Given the description of an element on the screen output the (x, y) to click on. 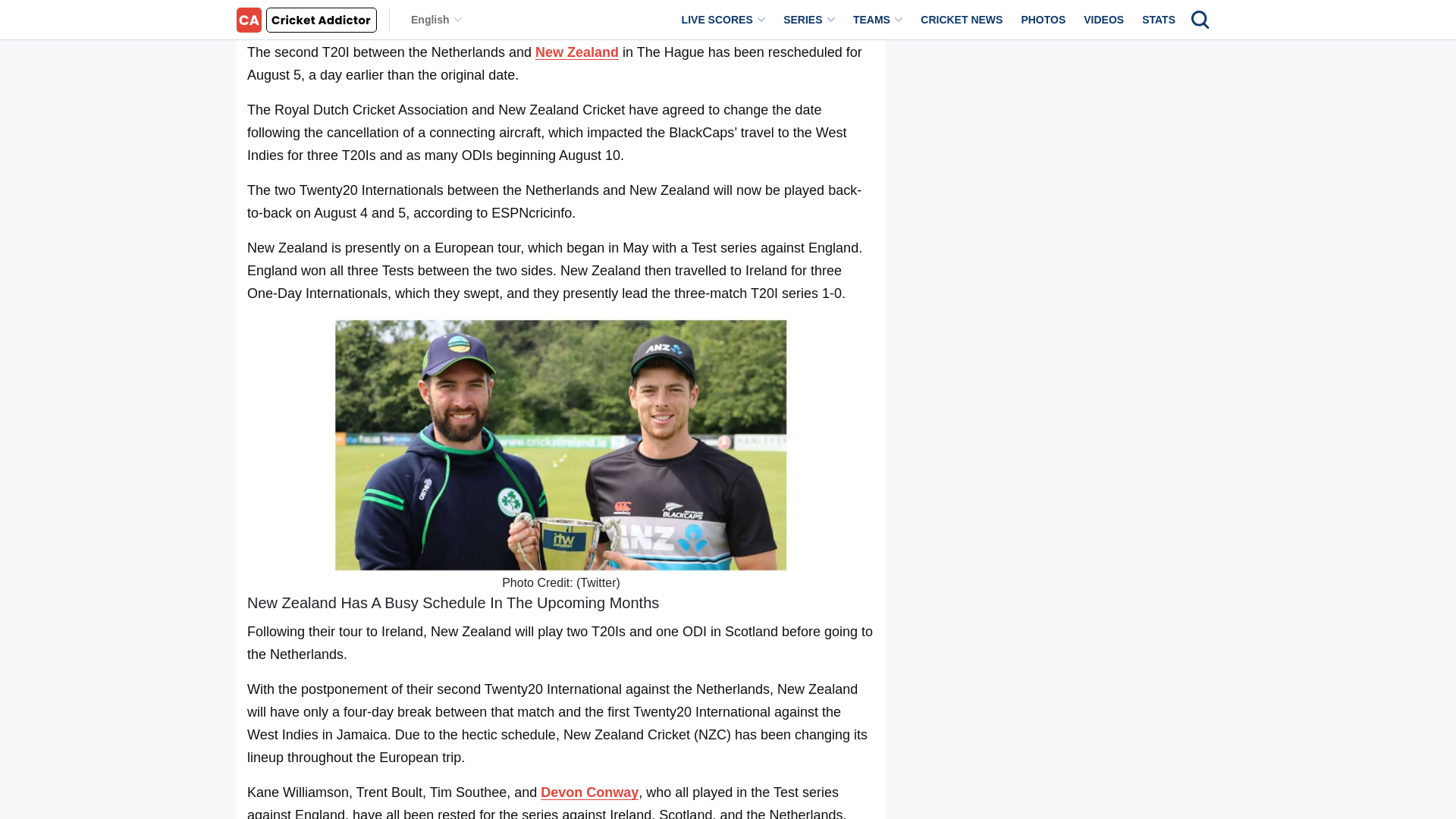
New Zealand Has A Busy Schedule In The Upcoming Months (450, 5)
Devon Conway (589, 792)
